Given the description of an element on the screen output the (x, y) to click on. 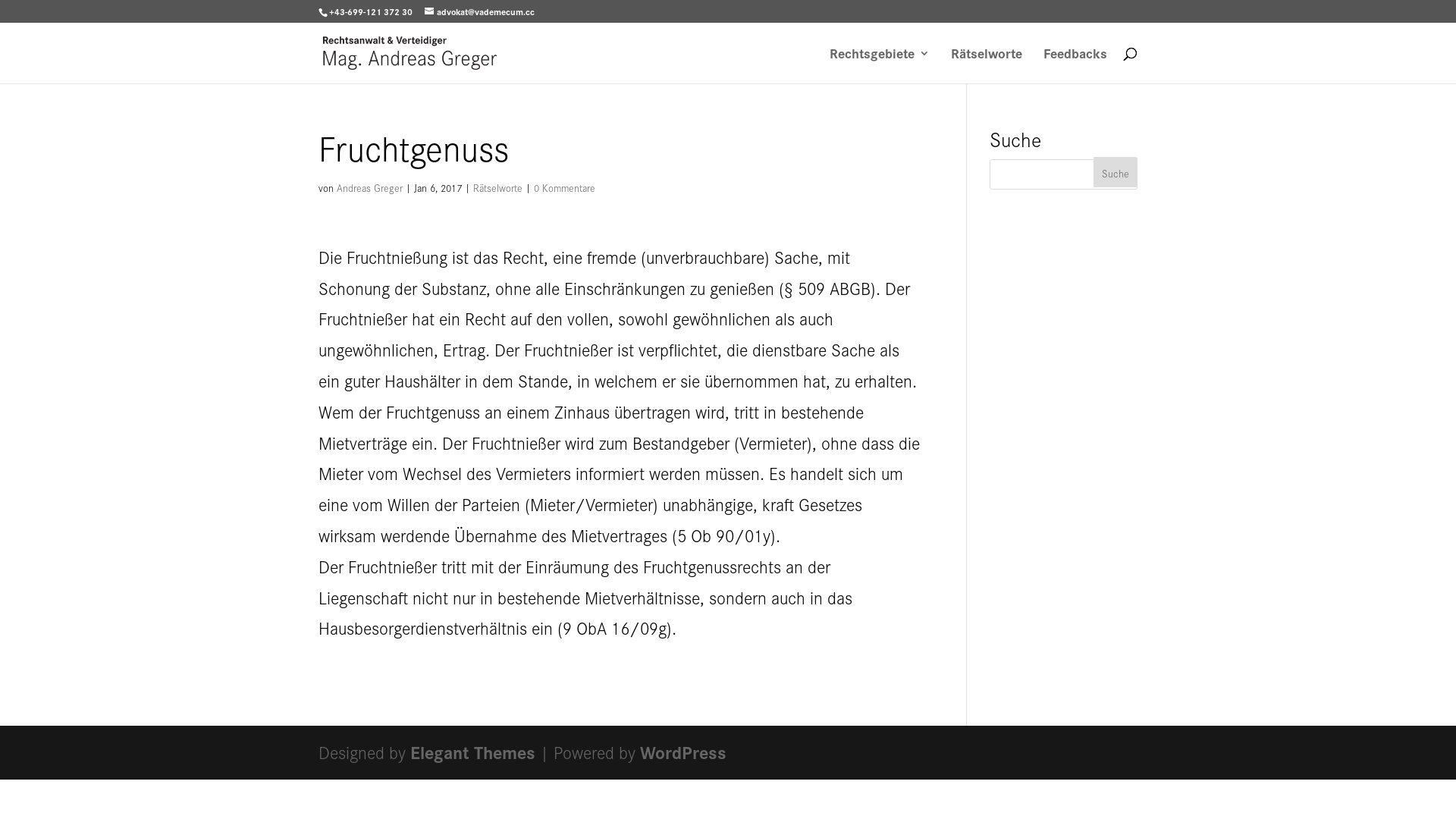
Andreas Greger Element type: text (369, 186)
Rechtsgebiete Element type: text (879, 65)
Feedbacks Element type: text (1075, 65)
WordPress Element type: text (683, 751)
0 Kommentare Element type: text (564, 186)
Suche Element type: text (1115, 171)
Elegant Themes Element type: text (472, 751)
advokat@vademecum.cc Element type: text (479, 11)
